Given the description of an element on the screen output the (x, y) to click on. 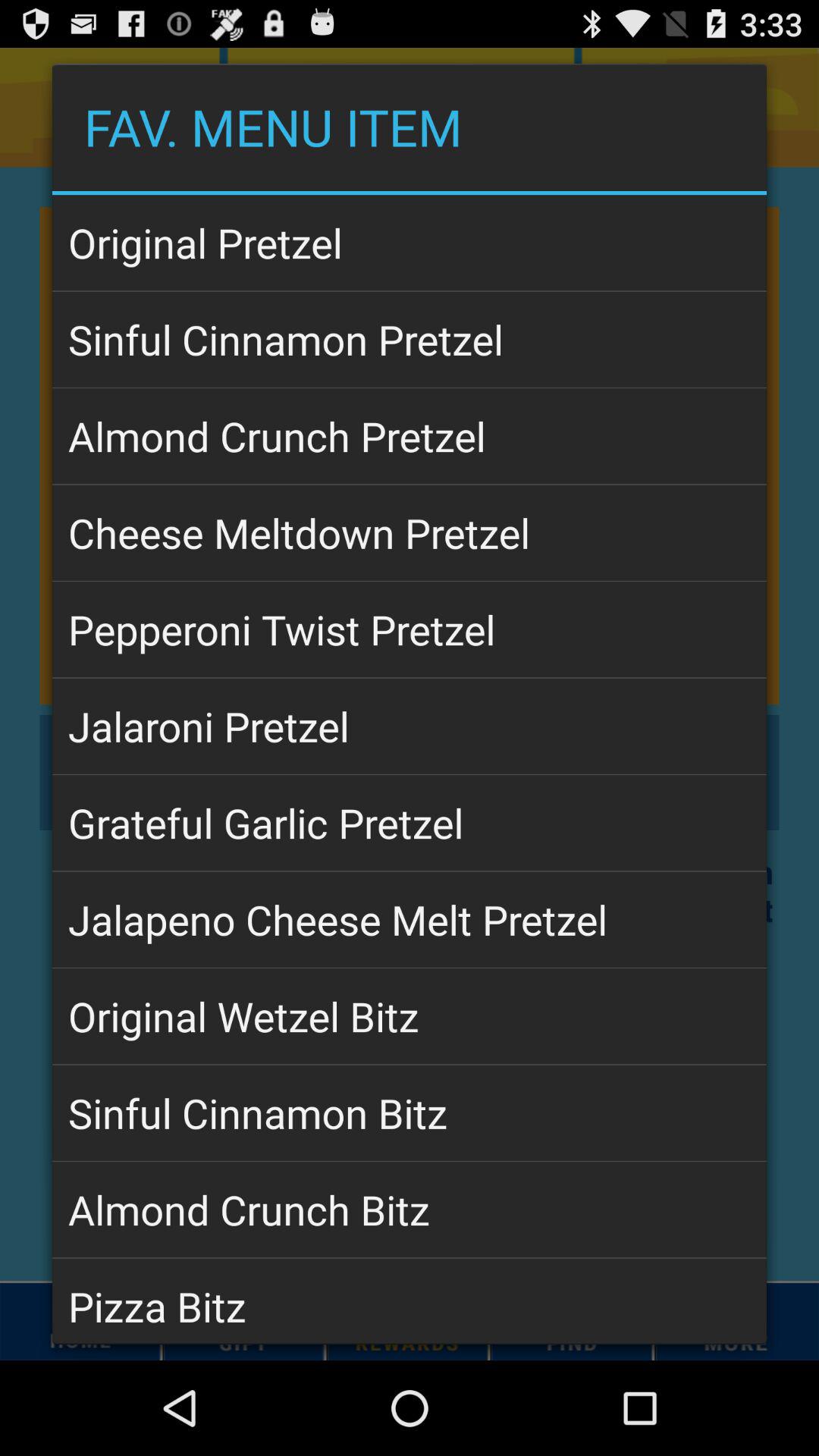
open app above pepperoni twist pretzel (409, 532)
